Given the description of an element on the screen output the (x, y) to click on. 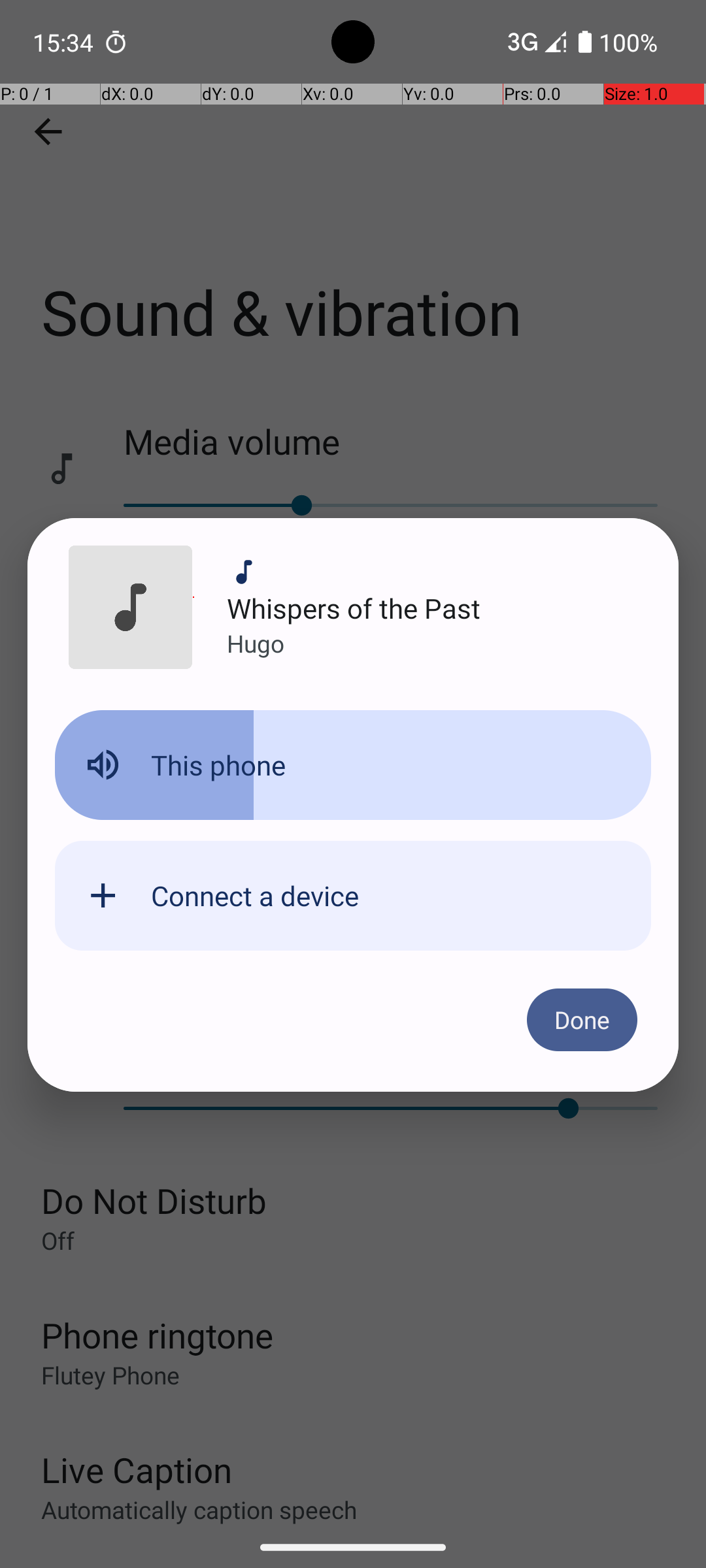
Whispers of the Past Element type: android.widget.TextView (353, 607)
Hugo Element type: android.widget.TextView (255, 642)
Connected to This phone. Element type: android.widget.LinearLayout (352, 775)
Volume Element type: android.widget.SeekBar (352, 764)
This phone Element type: android.widget.TextView (218, 764)
Connect a device Element type: android.widget.TextView (254, 895)
